Given the description of an element on the screen output the (x, y) to click on. 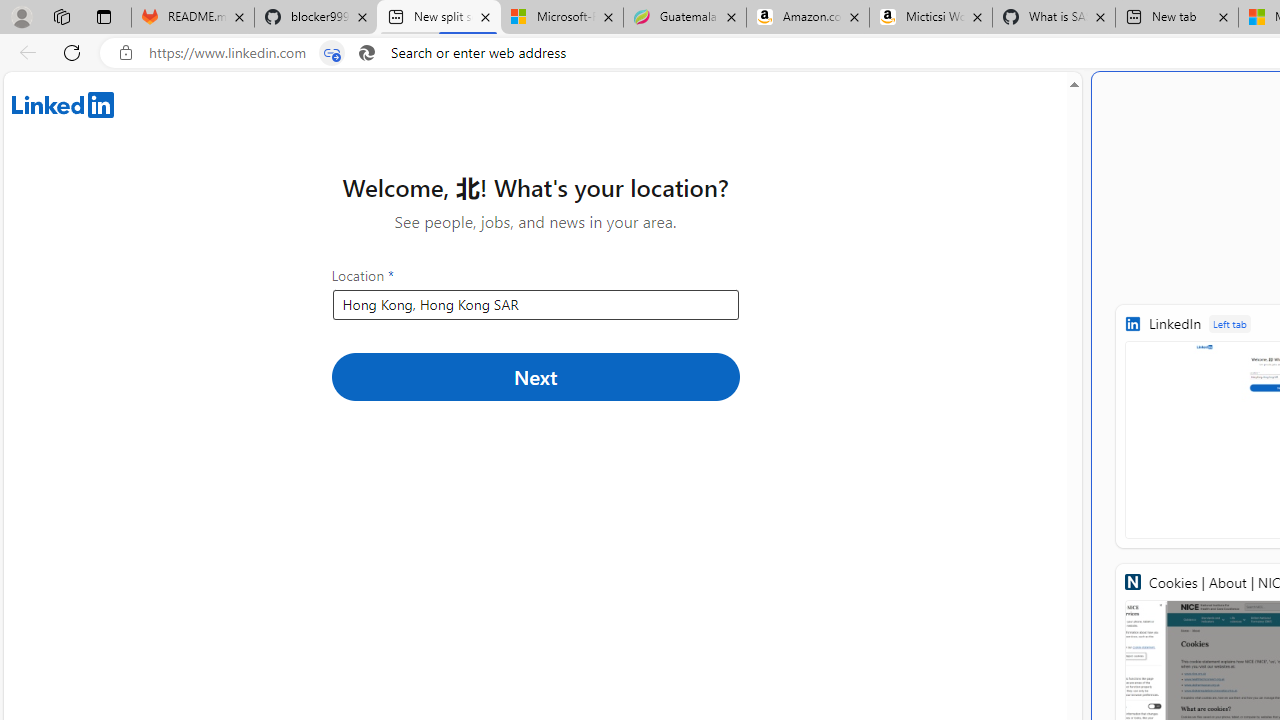
Tabs in split screen (331, 53)
New split screen (438, 17)
Search icon (366, 53)
